Given the description of an element on the screen output the (x, y) to click on. 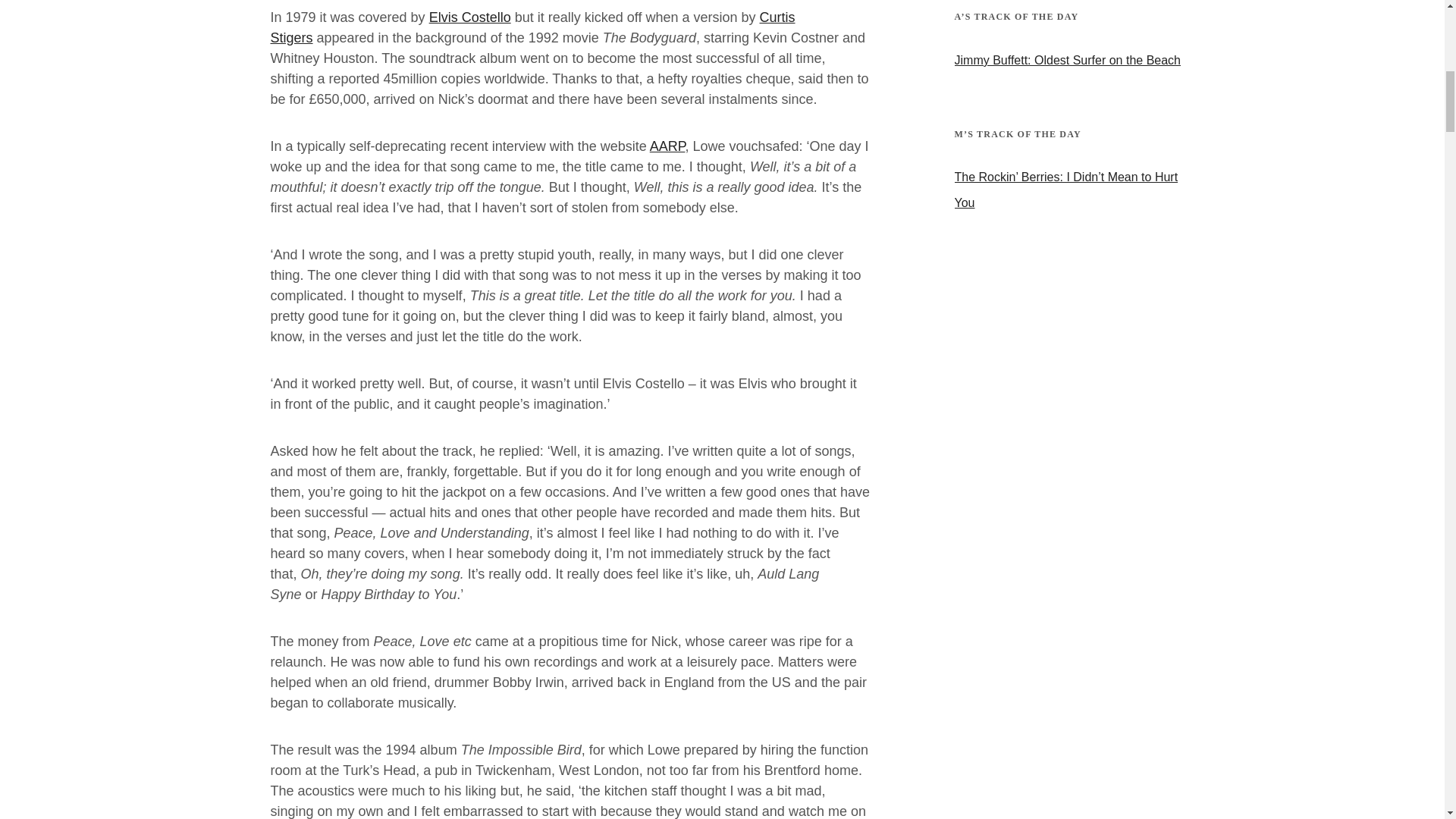
Curtis Stigers (531, 27)
AARP (667, 145)
Elvis Costello (470, 17)
